Given the description of an element on the screen output the (x, y) to click on. 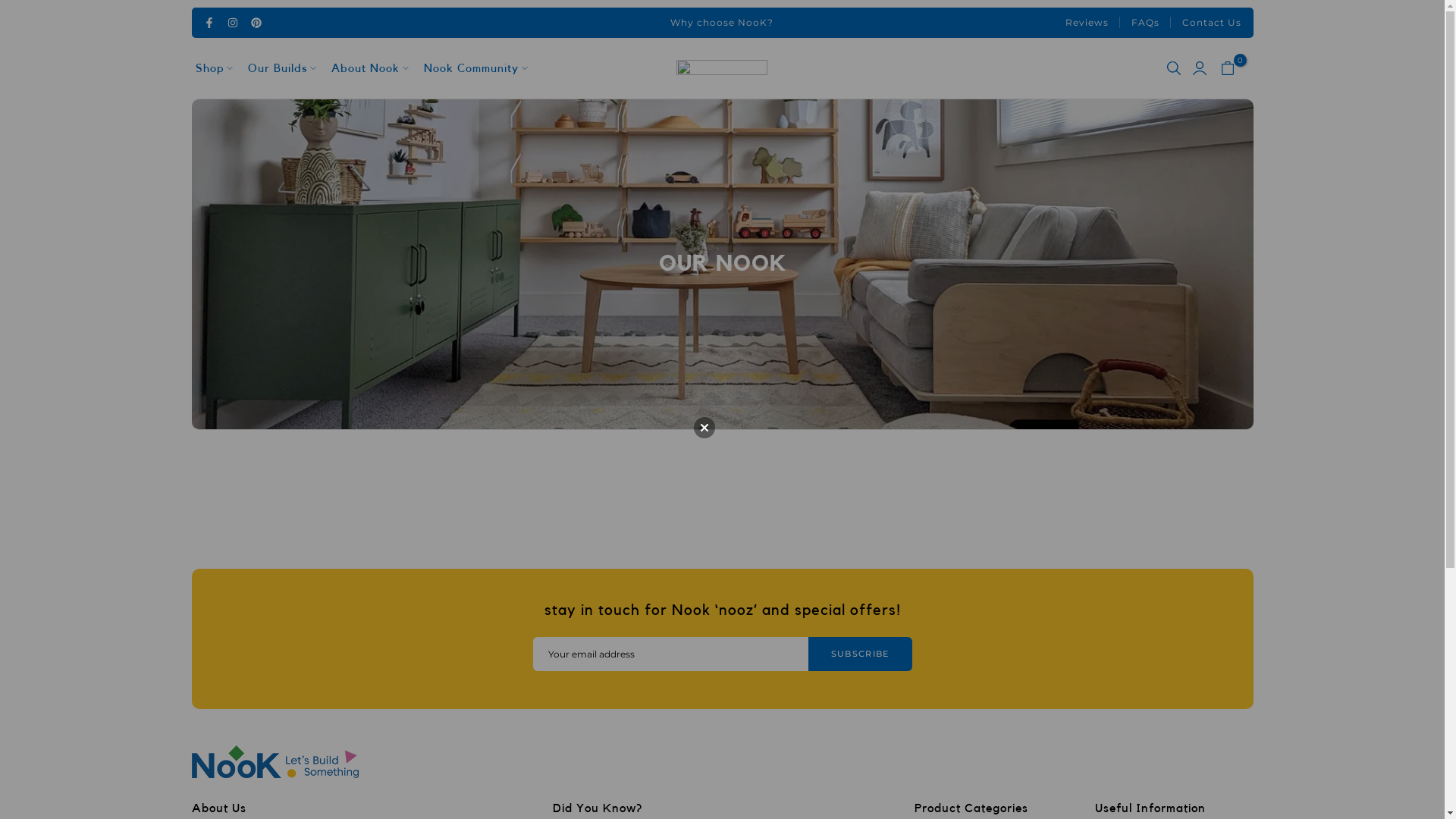
Nook Community Element type: text (471, 68)
Our Builds Element type: text (281, 68)
FAQs Element type: text (1145, 22)
Follow on Instagram Element type: hover (231, 22)
Shop Element type: text (217, 68)
Follow on Pinterest Element type: hover (256, 22)
Follow on Facebook Element type: hover (209, 22)
Why choose NooK? Element type: text (721, 22)
SUBSCRIBE Element type: text (860, 654)
Contact Us Element type: text (1211, 22)
About Nook Element type: text (369, 68)
Reviews Element type: text (1086, 22)
0 Element type: text (1227, 68)
